Given the description of an element on the screen output the (x, y) to click on. 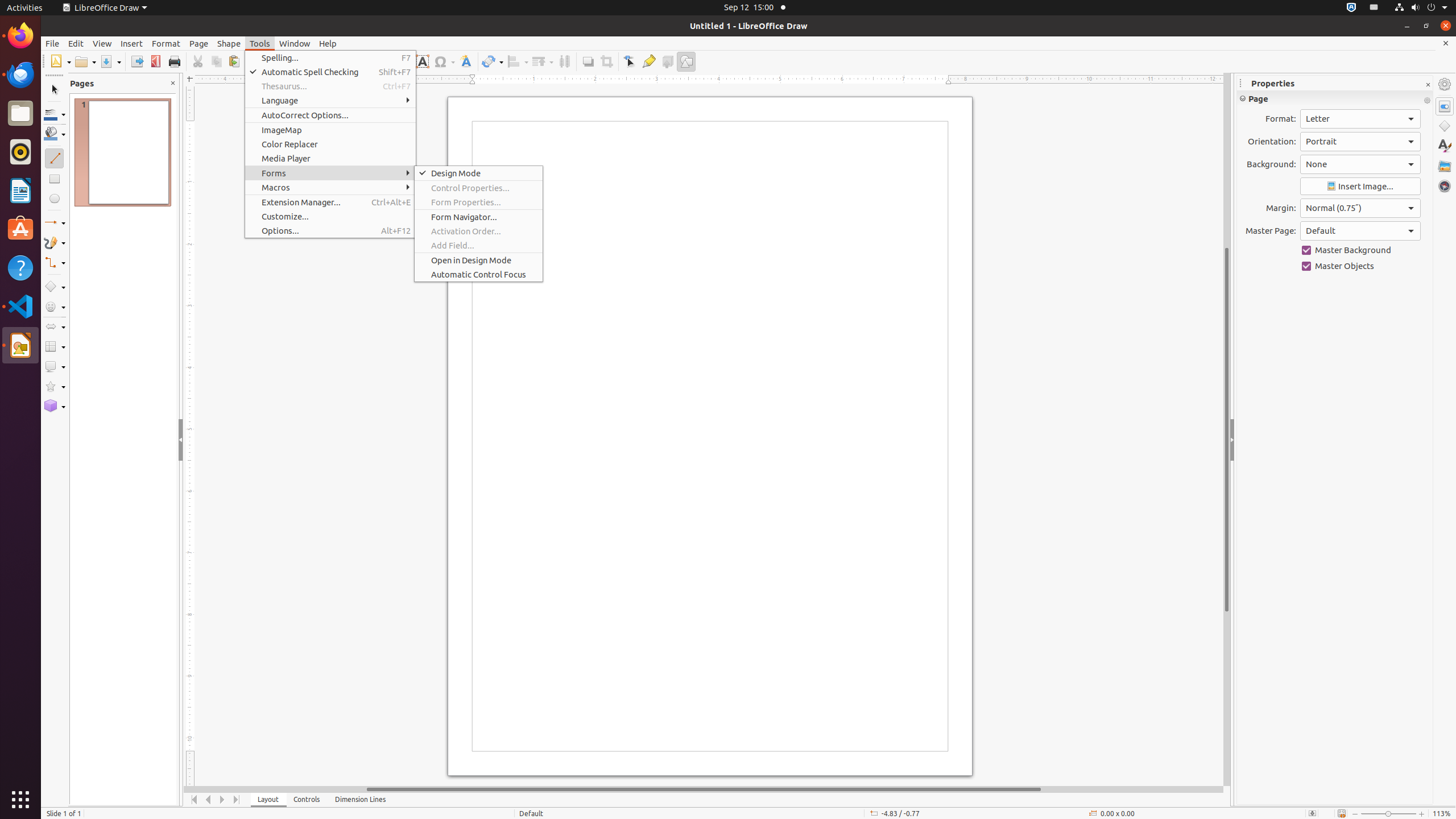
Arrange Element type: push-button (542, 61)
Forms Element type: menu (330, 173)
Horizontal scroll bar Element type: scroll-bar (703, 789)
Styles Element type: radio-button (1444, 146)
Media Player Element type: check-menu-item (330, 158)
